Given the description of an element on the screen output the (x, y) to click on. 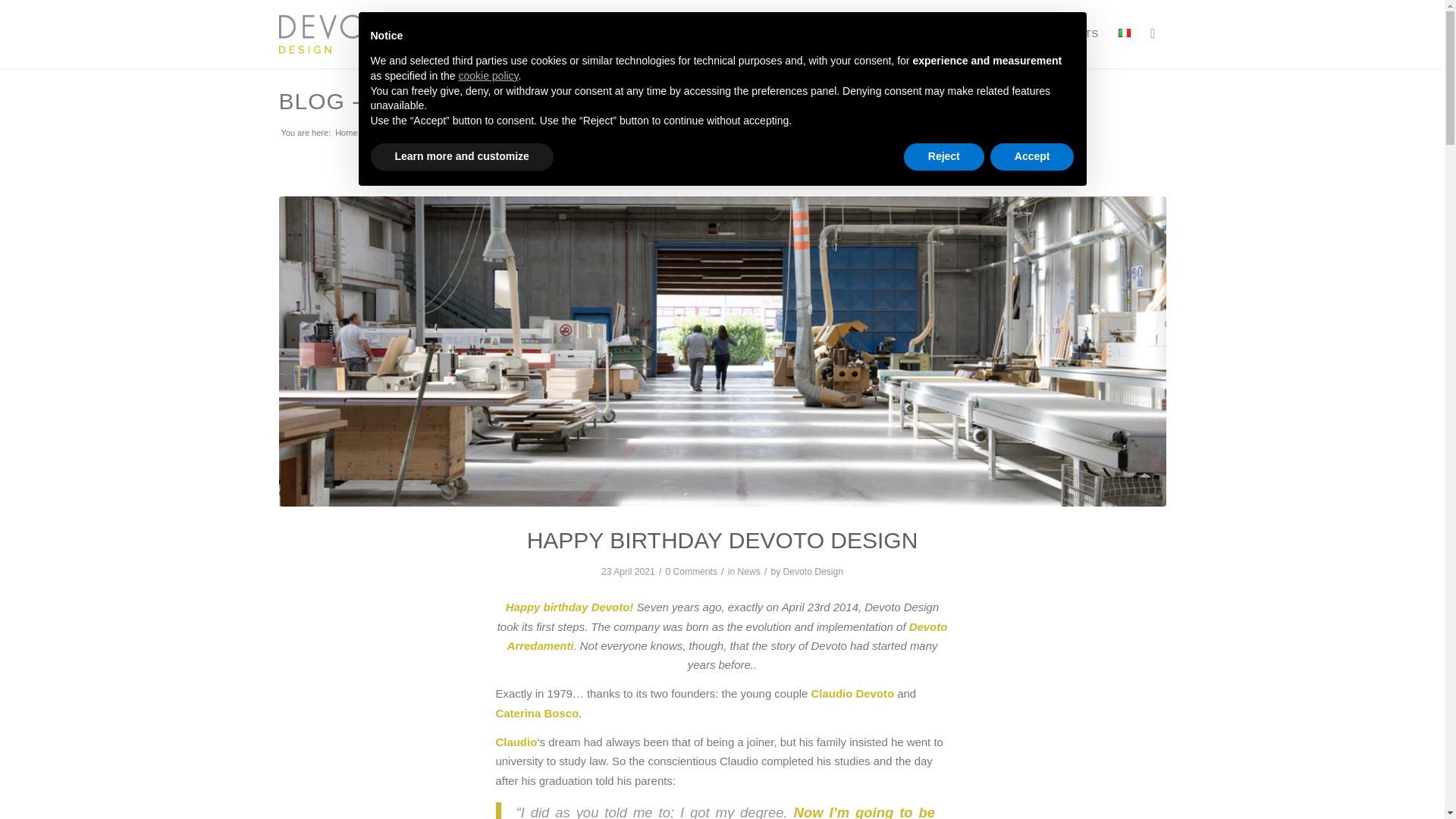
WHO WE ARE (794, 33)
Devoto Design (346, 132)
SERVICES (879, 33)
BLOG - LATEST NEWS (406, 100)
Devoto Design (813, 571)
0 Comments (691, 571)
Home (346, 132)
CONTACTS (1069, 33)
News (748, 571)
Posts by Devoto Design (813, 571)
Permanent Link: Blog - Latest News (406, 100)
News (378, 132)
